Given the description of an element on the screen output the (x, y) to click on. 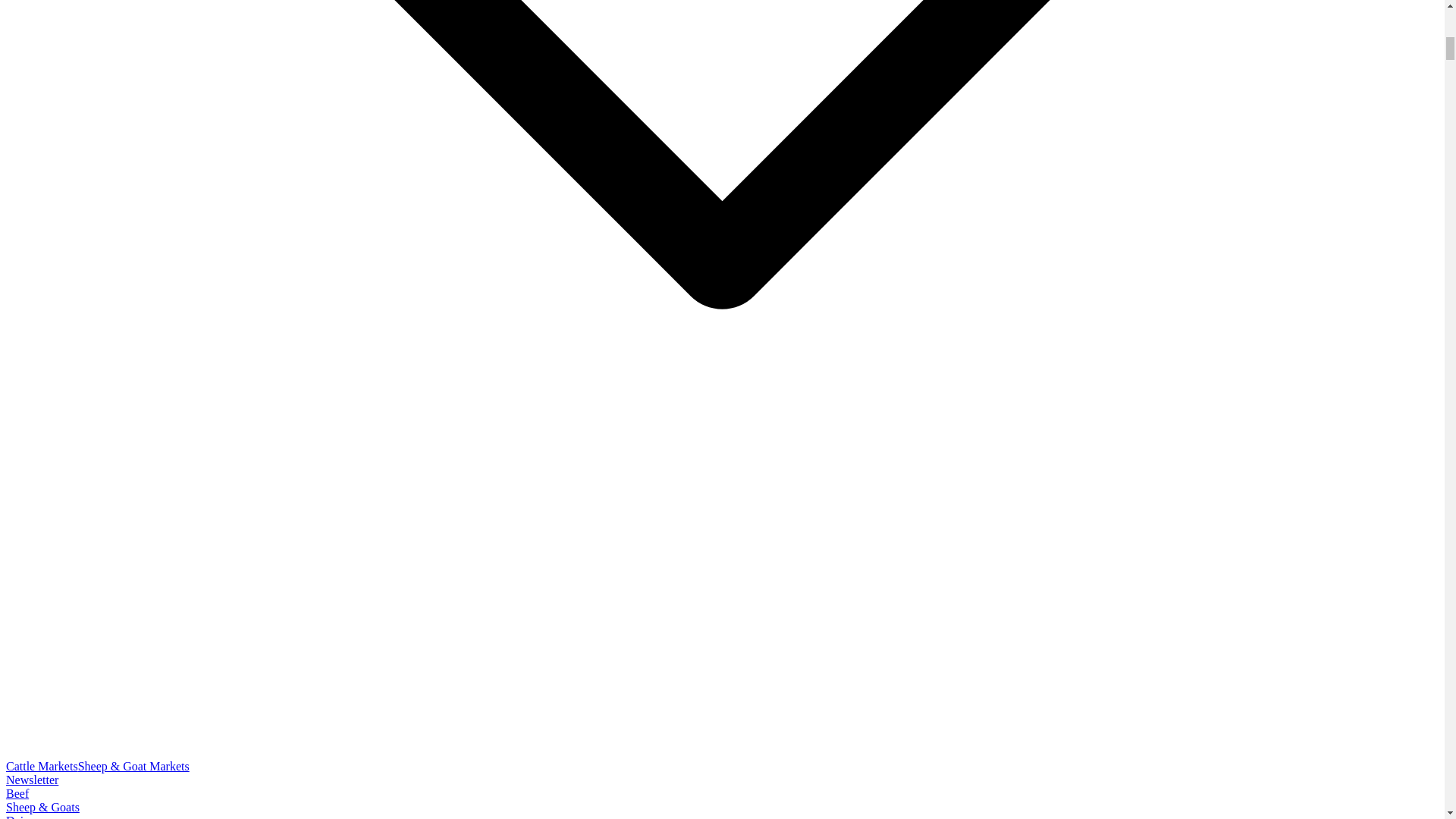
Dairy (19, 816)
Beef (17, 793)
Newsletter (31, 779)
Cattle Markets (41, 766)
